Given the description of an element on the screen output the (x, y) to click on. 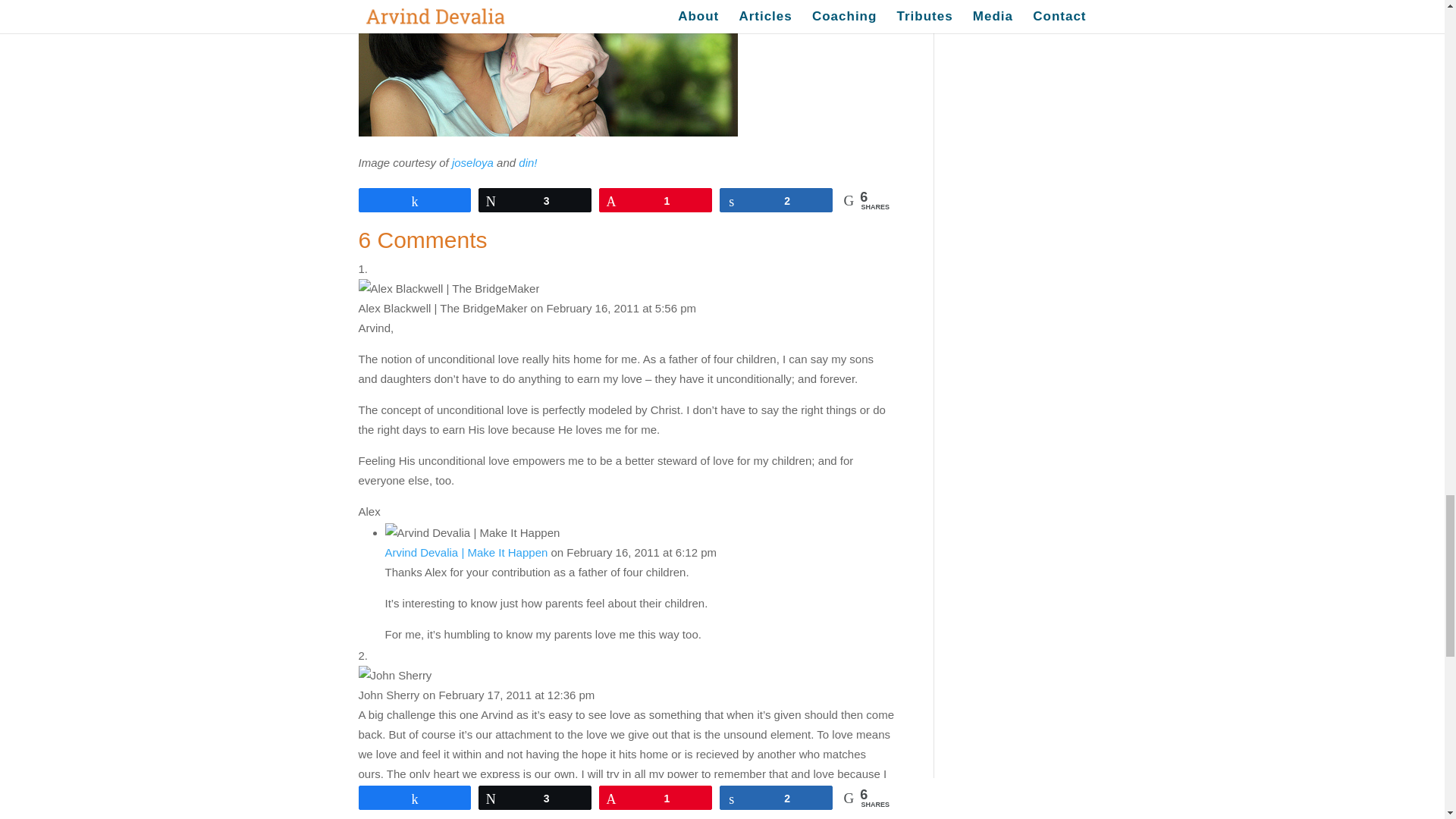
1 (655, 200)
2 (775, 200)
3 (535, 200)
joseloya (472, 162)
din! (527, 162)
